Given the description of an element on the screen output the (x, y) to click on. 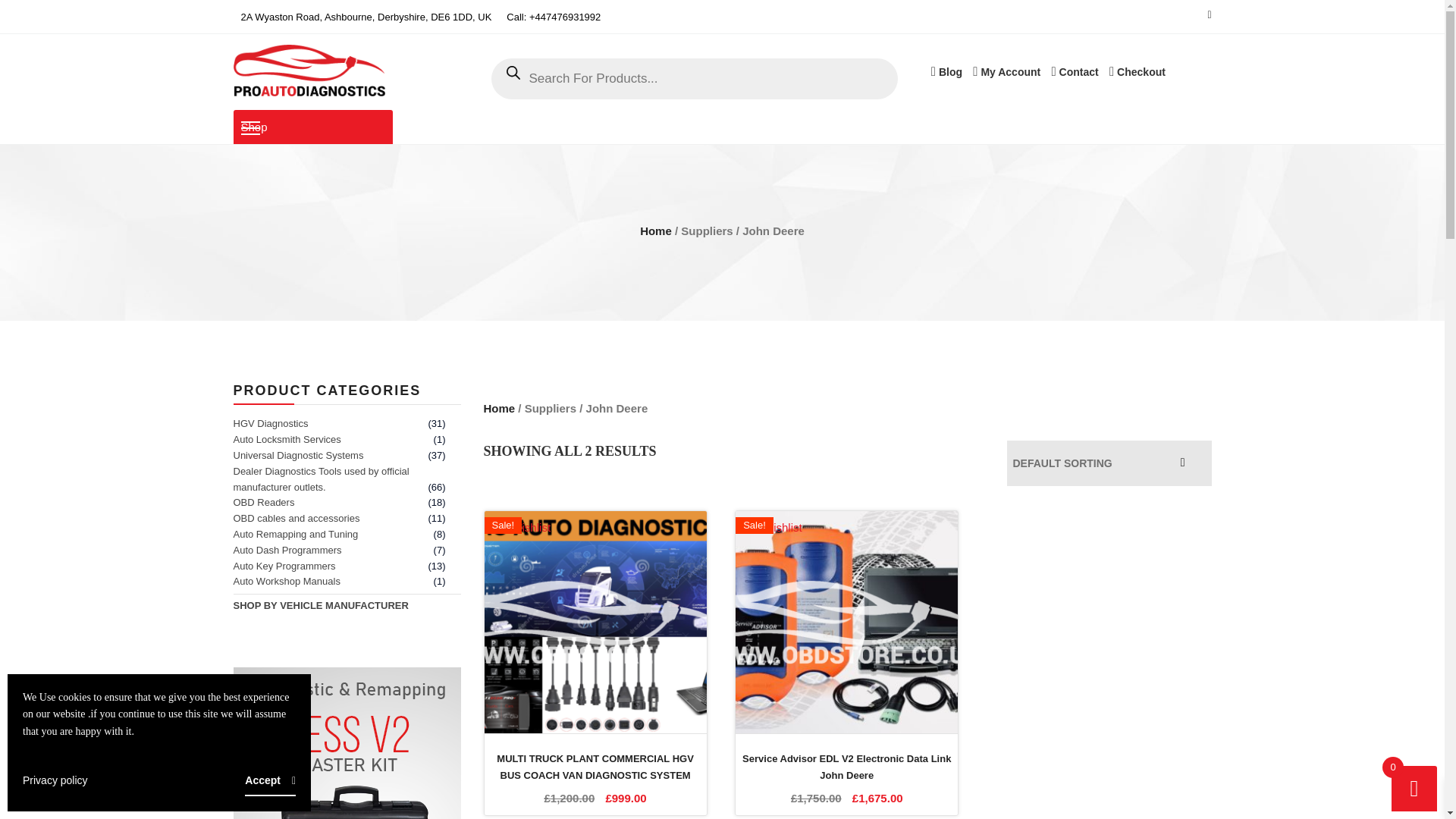
Home (655, 230)
Shop (312, 126)
Auto Key Programmers (284, 565)
Home (499, 408)
Blog (946, 71)
HGV Diagnostics (270, 423)
My Account (1006, 71)
2A Wyaston Road, Ashbourne, Derbyshire, DE6 1DD, UK (365, 17)
Auto Locksmith Services (286, 439)
Contact (1074, 71)
Auto Dash Programmers (287, 550)
Checkout (1137, 71)
Auto Remapping and Tuning (295, 533)
OBD Readers (263, 501)
